Given the description of an element on the screen output the (x, y) to click on. 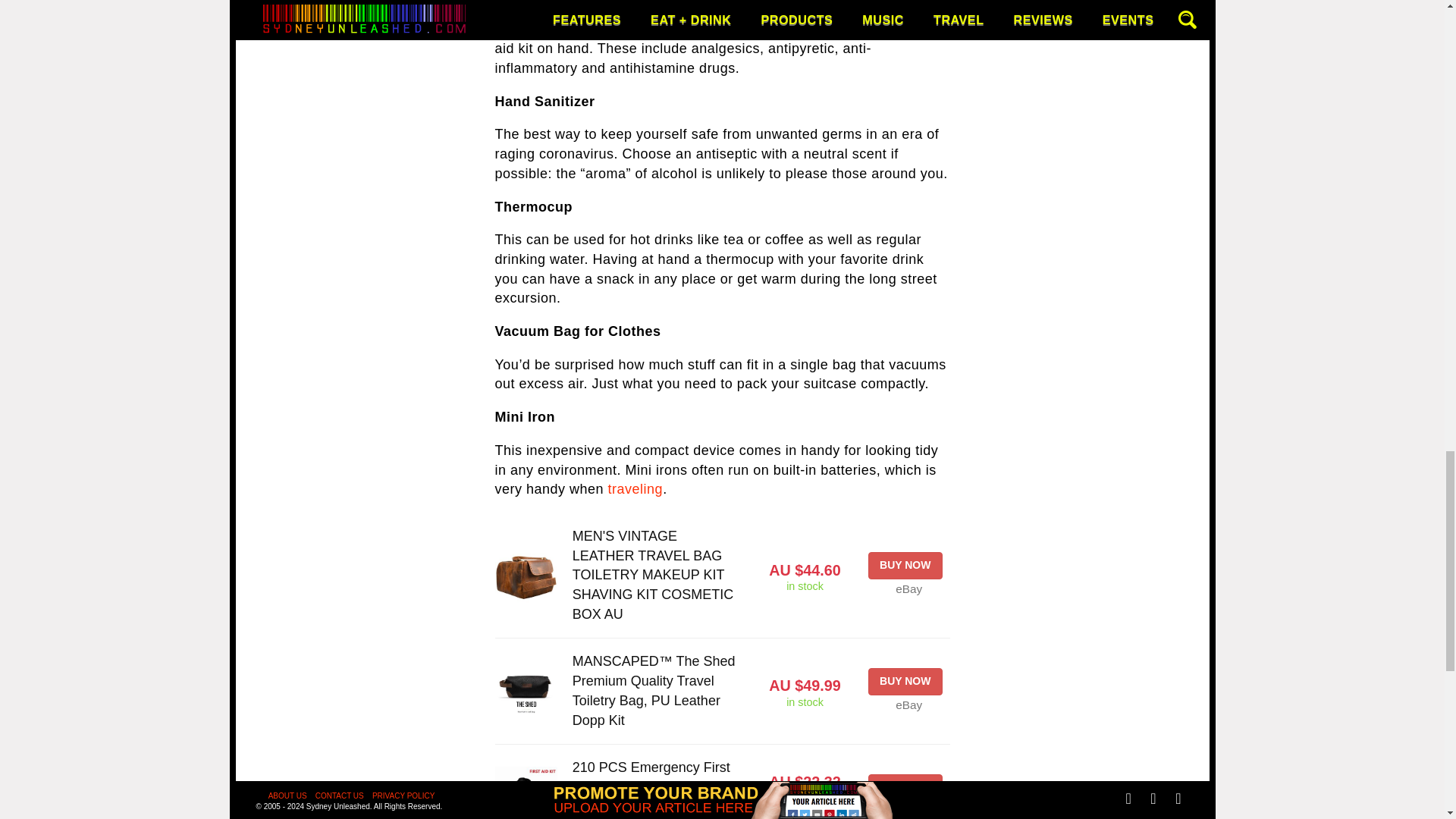
BUY NOW (904, 787)
BUY NOW (904, 681)
Last updated on August 1, 2024 12:53 pm (805, 702)
Last updated on August 1, 2024 12:53 pm (805, 815)
BUY NOW (904, 565)
traveling (635, 488)
Last updated on August 1, 2024 12:53 pm (805, 586)
